Given the description of an element on the screen output the (x, y) to click on. 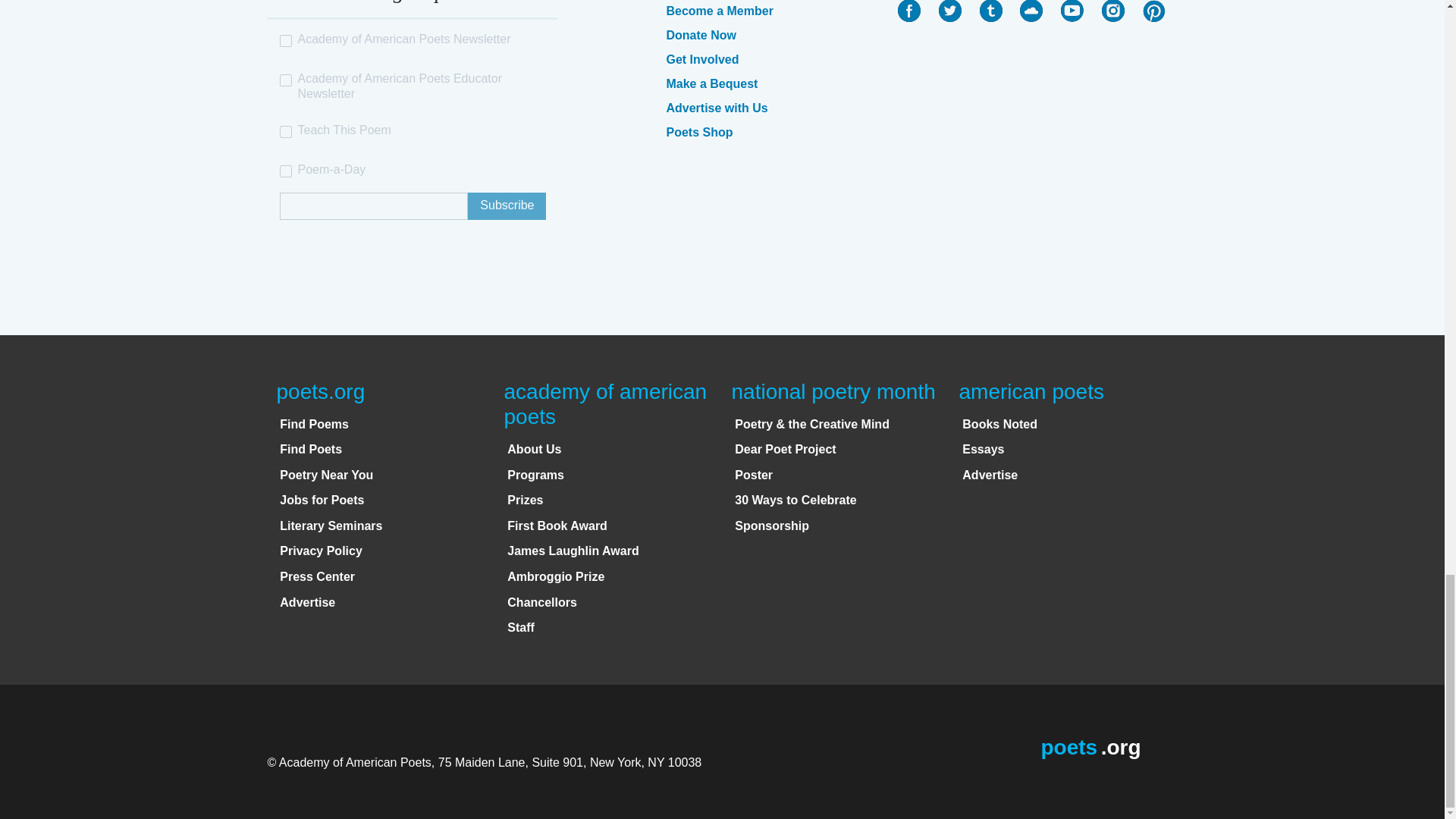
Subscribe (506, 206)
Jobs for Poets (321, 499)
Poetry Near You (325, 474)
